Given the description of an element on the screen output the (x, y) to click on. 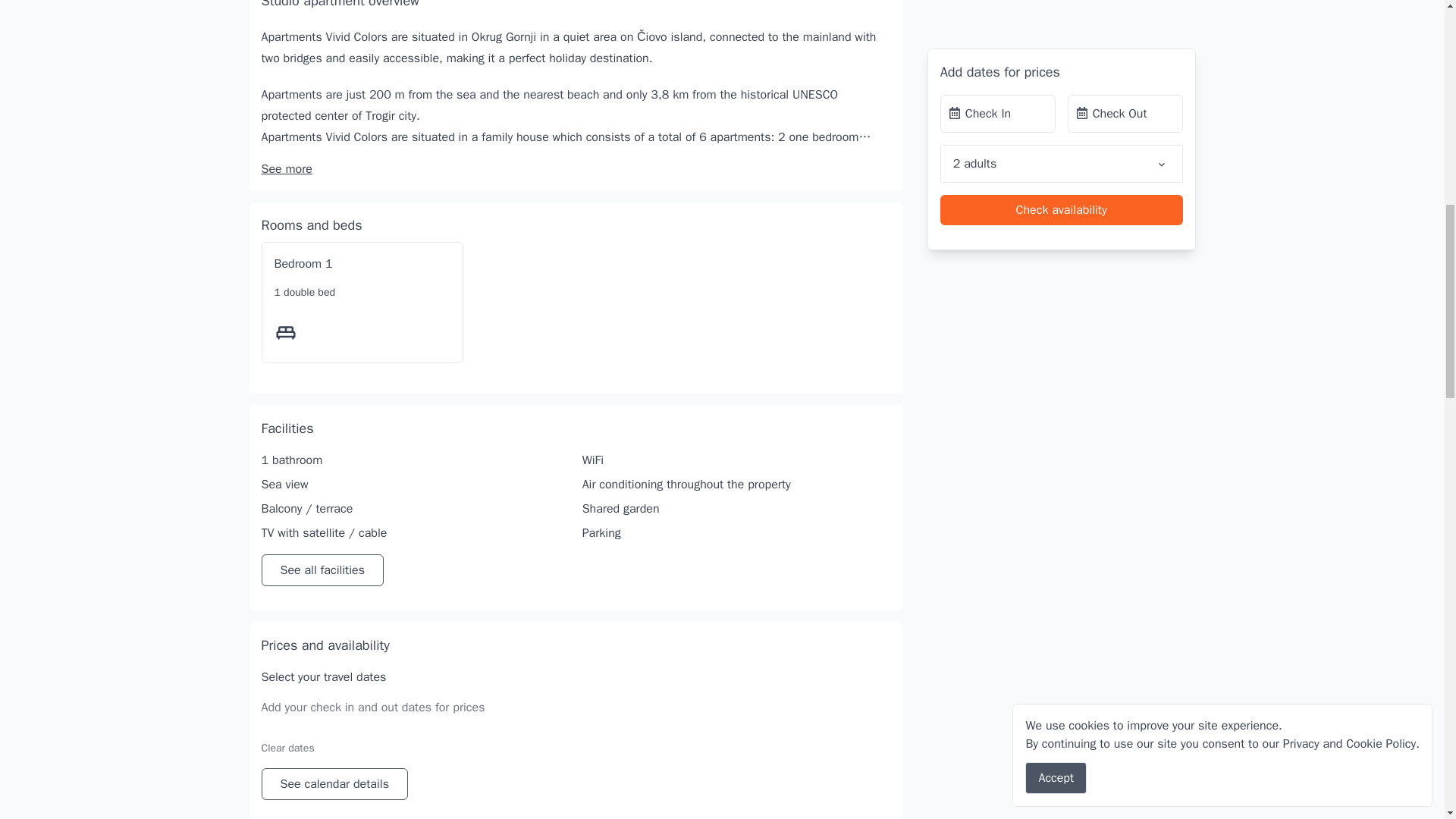
Clear dates (287, 748)
See more (285, 168)
